Given the description of an element on the screen output the (x, y) to click on. 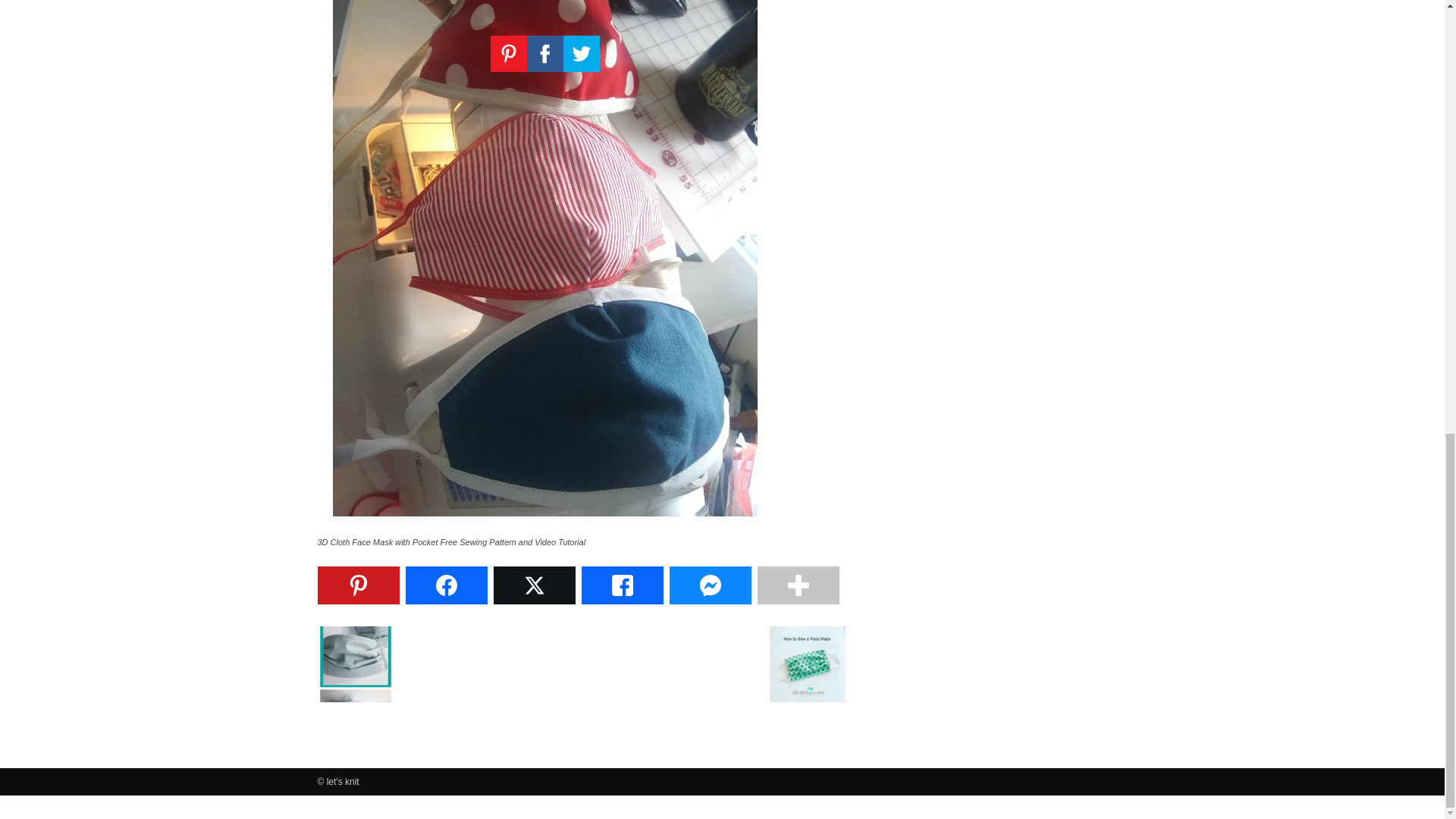
Share on Facebook (445, 585)
Share on Twitter (534, 585)
Share on Facebook Messenger (709, 585)
Share on Like (621, 585)
Share on More Button (797, 585)
Share on Pinterest (357, 585)
